Given the description of an element on the screen output the (x, y) to click on. 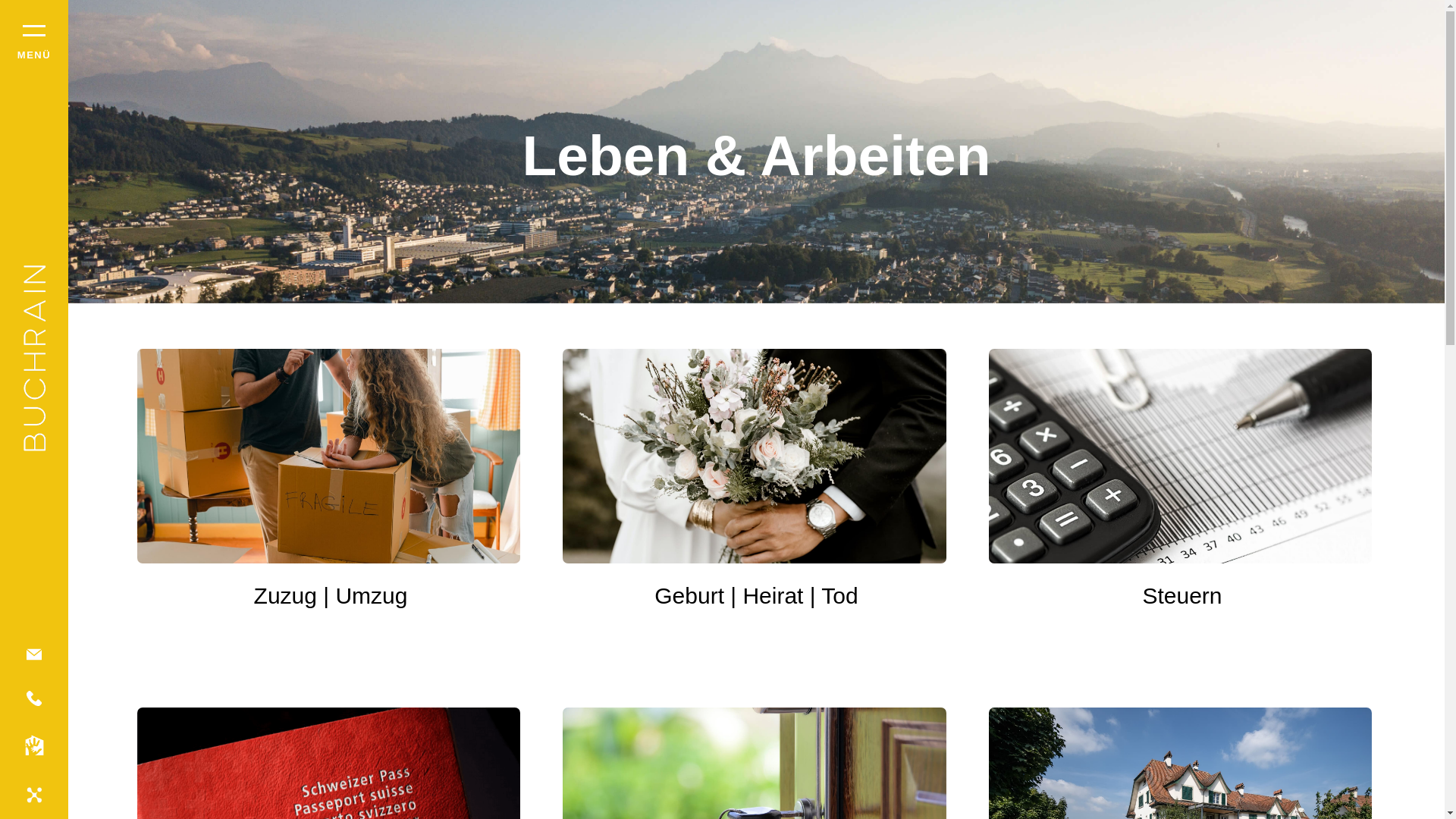
Steuern Element type: text (1182, 498)
Geburt | Heirat | Tod Element type: text (756, 498)
Zuzug | Umzug Element type: text (330, 498)
